Given the description of an element on the screen output the (x, y) to click on. 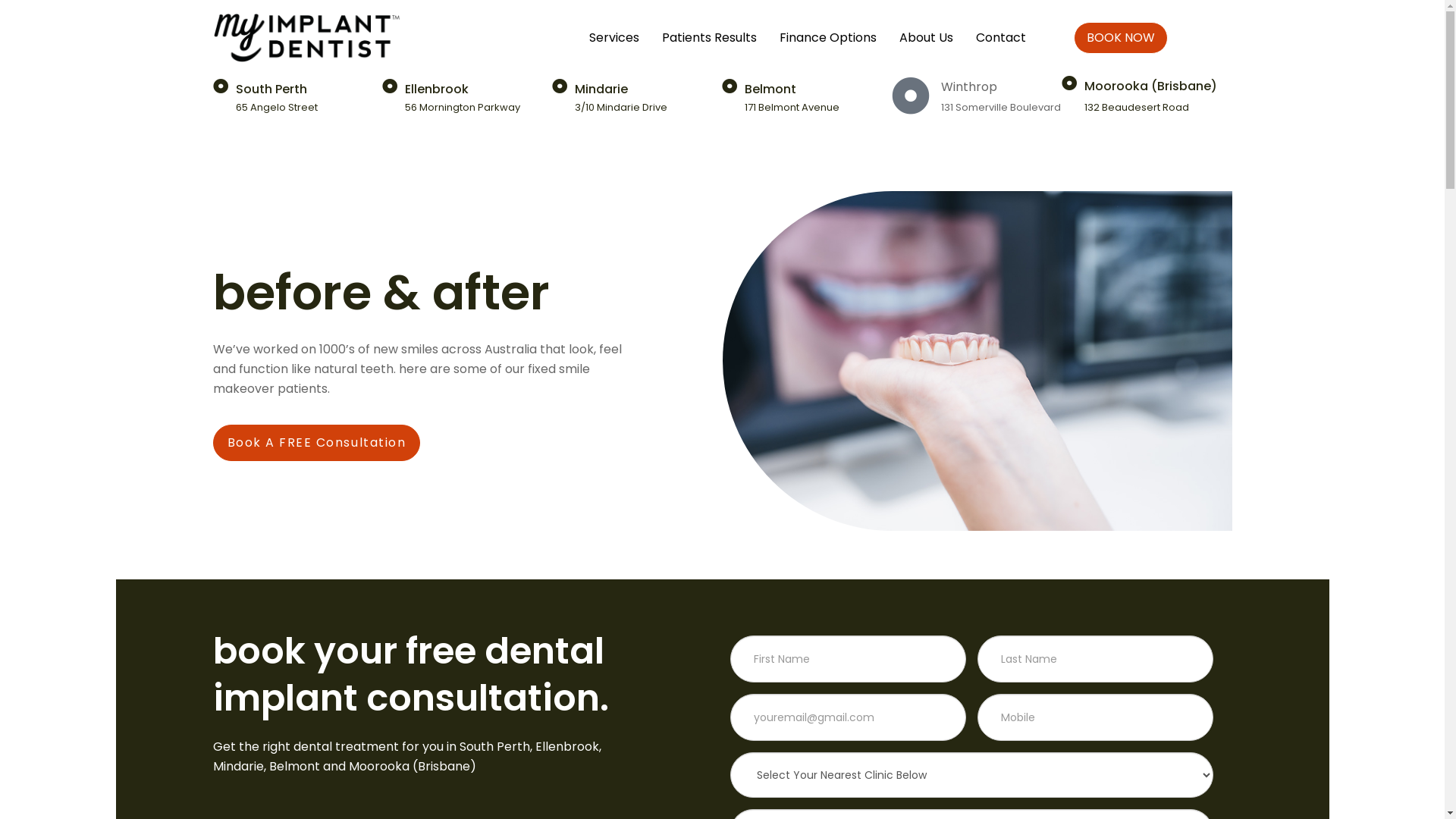
South Perth Element type: text (270, 88)
Ellenbrook Element type: text (436, 88)
Belmont Element type: text (770, 88)
About Us Element type: text (926, 37)
Moorooka (Brisbane) Element type: text (1150, 85)
Winthrop Element type: text (969, 86)
BOOK NOW Element type: text (1120, 37)
Finance Options Element type: text (828, 37)
Book A FREE Consultation Element type: text (316, 442)
Mindarie Element type: text (600, 88)
Patients Results Element type: text (709, 37)
Services Element type: text (613, 41)
Contact Element type: text (1000, 37)
